Given the description of an element on the screen output the (x, y) to click on. 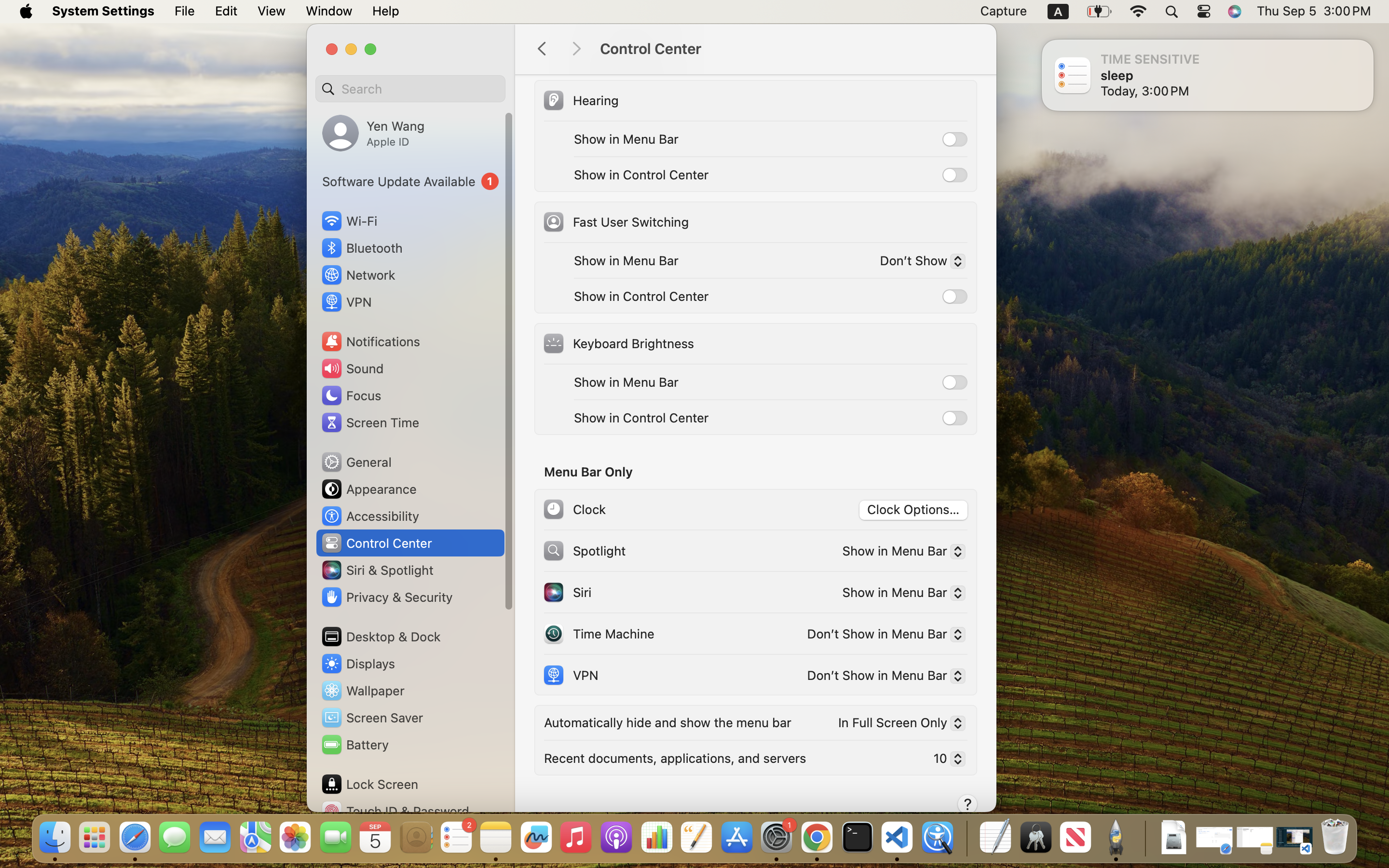
Recent documents, applications, and servers Element type: AXStaticText (675, 757)
Bluetooth Element type: AXStaticText (361, 247)
Displays Element type: AXStaticText (357, 663)
Network Element type: AXStaticText (357, 274)
In Full Screen Only Element type: AXPopUpButton (897, 724)
